Given the description of an element on the screen output the (x, y) to click on. 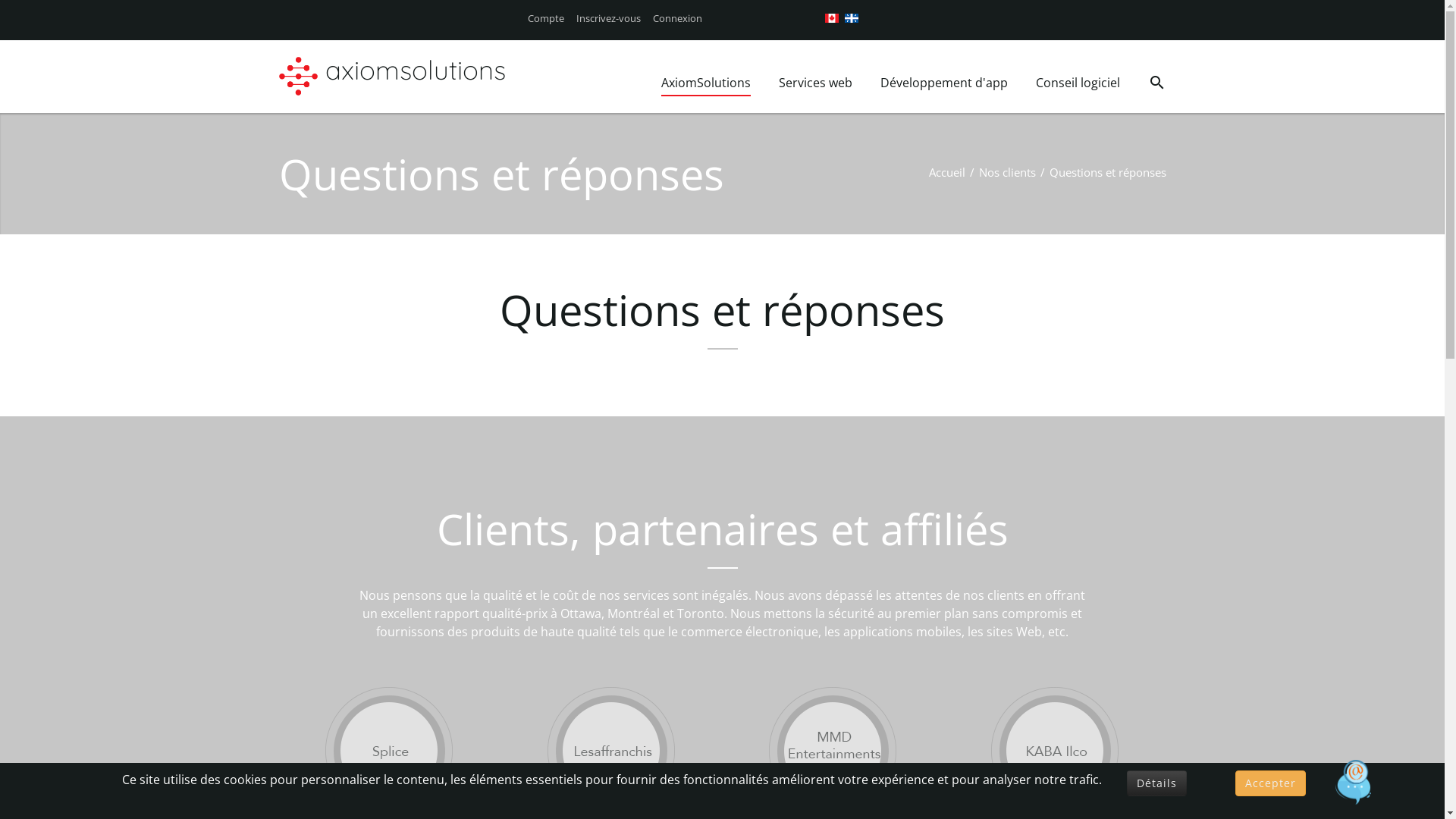
Accueil Element type: text (946, 171)
Accepter Element type: text (1269, 783)
Services web Element type: text (814, 84)
axiomsolutions Element type: text (414, 74)
AxiomSolutions Element type: text (705, 84)
Compte Element type: text (545, 18)
French (CA) Element type: hover (851, 17)
English (CA) Element type: hover (831, 17)
Connexion Element type: text (676, 18)
Inscrivez-vous Element type: text (608, 18)
Conseil logiciel Element type: text (1077, 84)
Nos clients Element type: text (1006, 171)
